Given the description of an element on the screen output the (x, y) to click on. 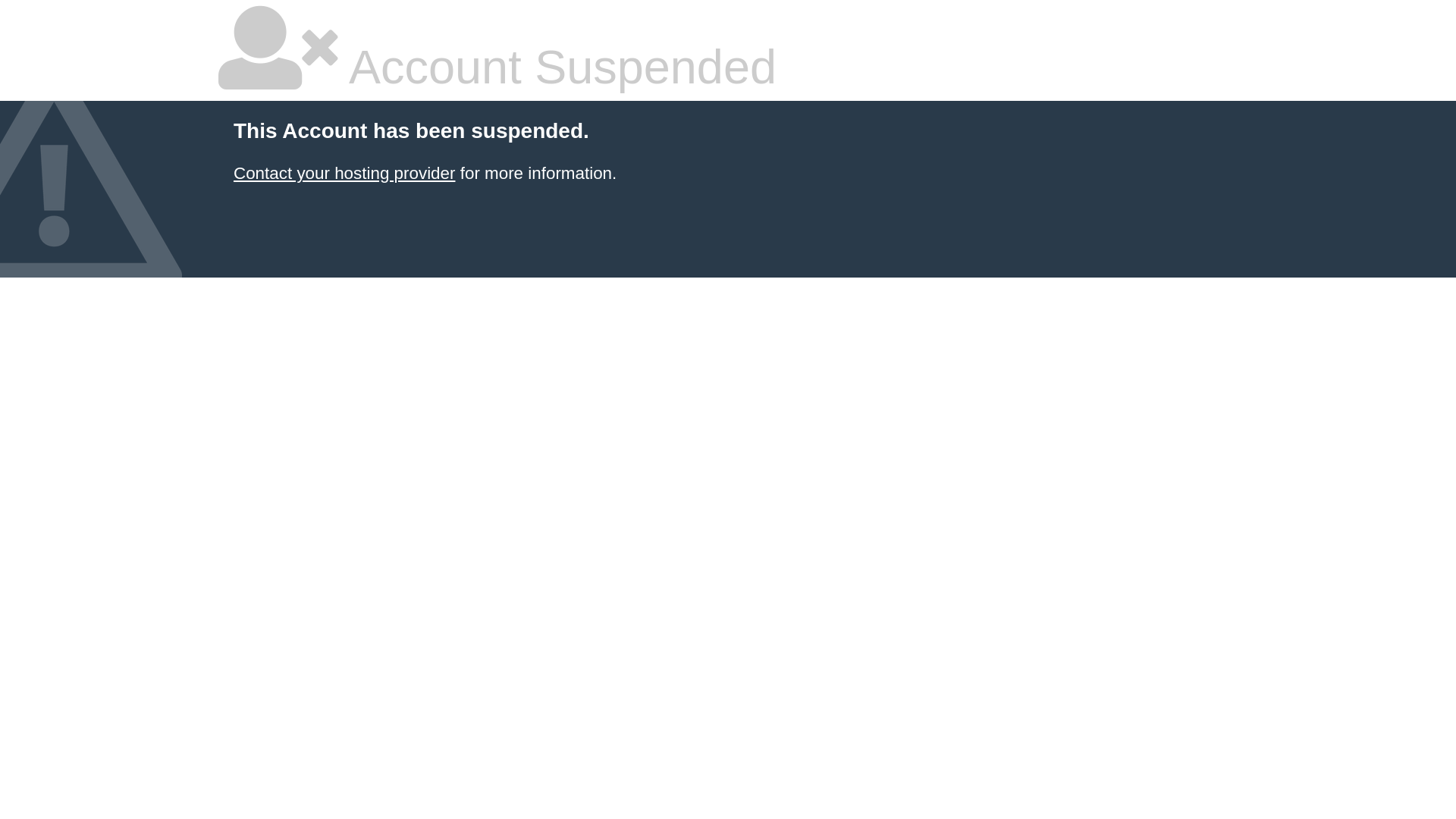
Contact your hosting provider Element type: text (344, 172)
